Given the description of an element on the screen output the (x, y) to click on. 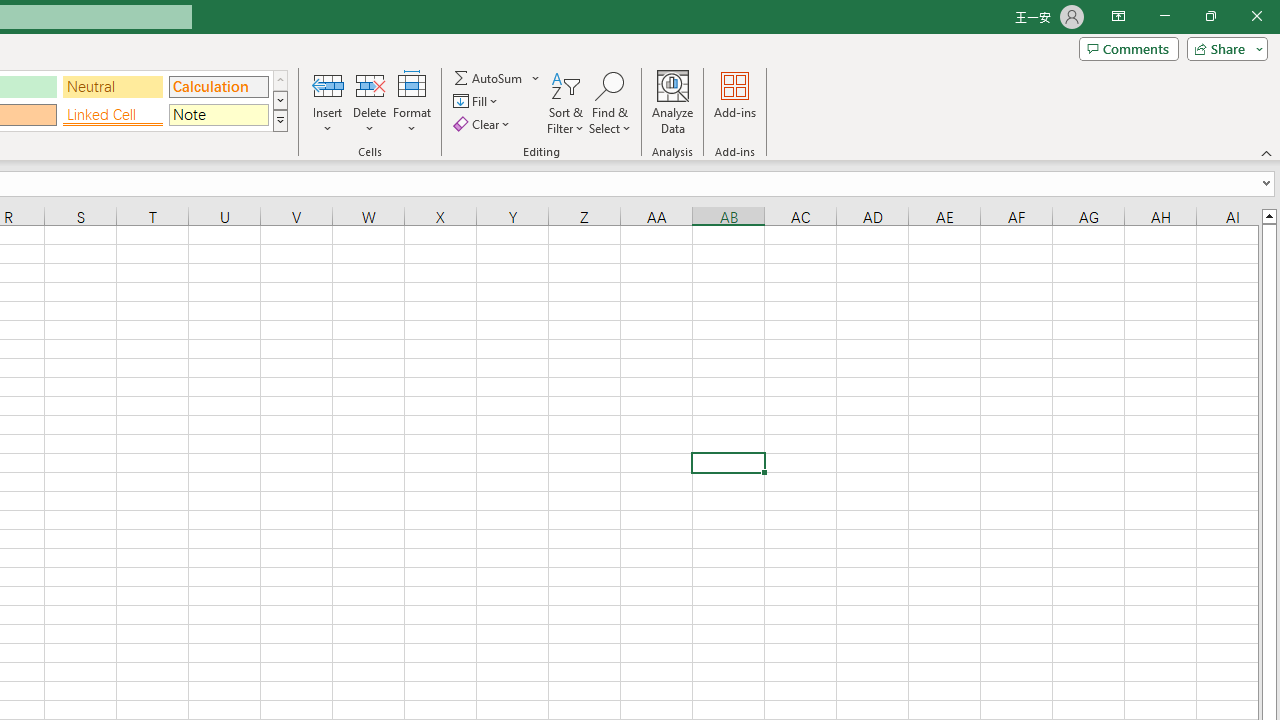
More Options (536, 78)
Delete (369, 102)
Insert Cells (328, 84)
Collapse the Ribbon (1267, 152)
Row Down (280, 100)
Delete Cells... (369, 84)
Class: NetUIImage (280, 120)
Clear (483, 124)
Find & Select (610, 102)
Cell Styles (280, 120)
Restore Down (1210, 16)
Neutral (113, 86)
Close (1256, 16)
